Given the description of an element on the screen output the (x, y) to click on. 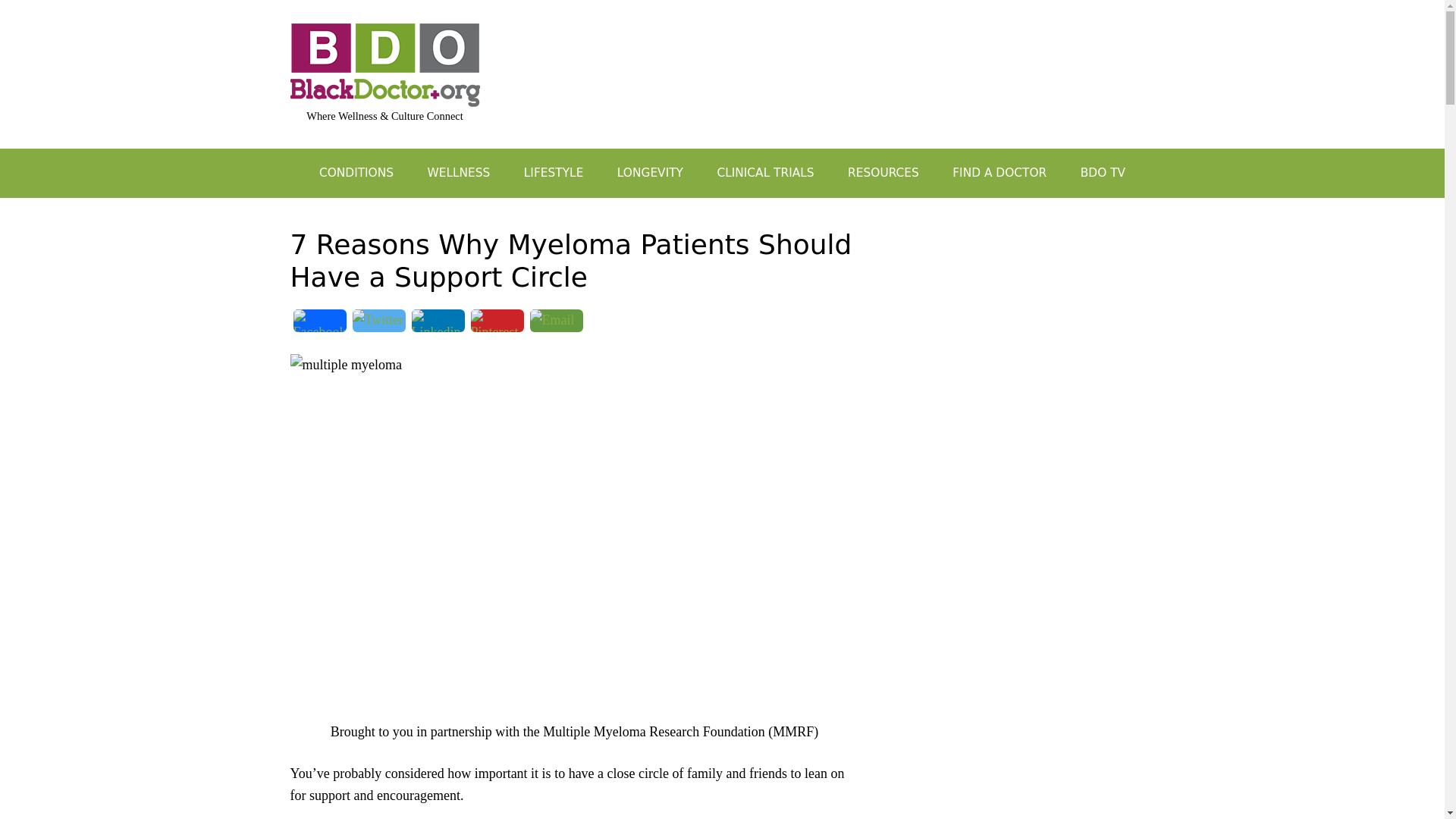
FIND A DOCTOR (999, 173)
Facebook (319, 323)
Pinterest (496, 323)
Email (555, 323)
CONDITIONS (356, 173)
Linkedin (437, 323)
LONGEVITY (650, 173)
Twitter (378, 323)
RESOURCES (883, 173)
CLINICAL TRIALS (764, 173)
BDO TV (1102, 173)
LIFESTYLE (553, 173)
WELLNESS (458, 173)
